Given the description of an element on the screen output the (x, y) to click on. 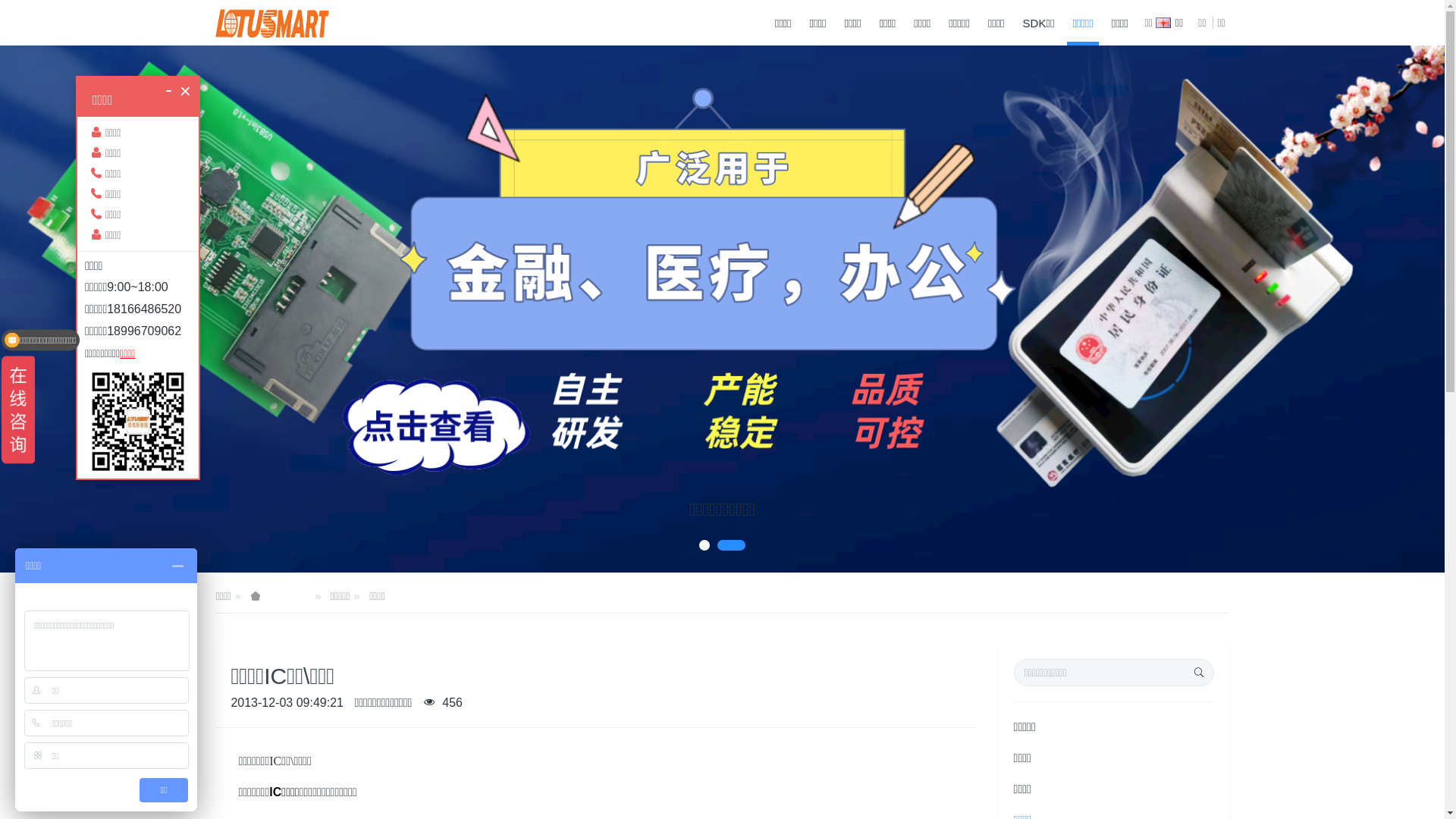
- Element type: text (168, 89)
